Given the description of an element on the screen output the (x, y) to click on. 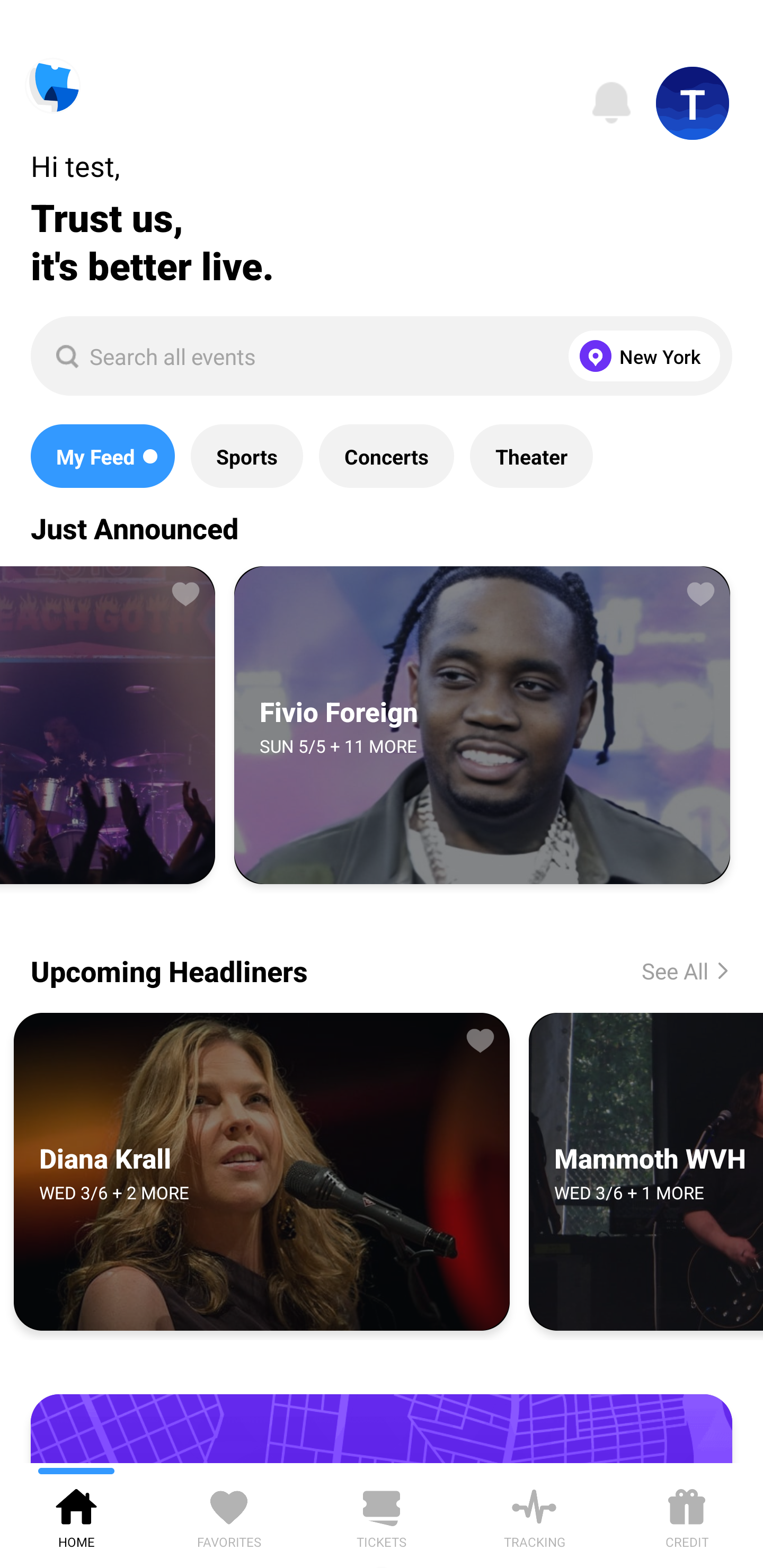
T (692, 103)
New York (640, 355)
My Feed (102, 455)
Sports (246, 455)
Concerts (385, 455)
Theater (531, 455)
See All  (670, 970)
HOME (76, 1515)
FAVORITES (228, 1515)
TICKETS (381, 1515)
TRACKING (533, 1515)
CREDIT (686, 1515)
